Given the description of an element on the screen output the (x, y) to click on. 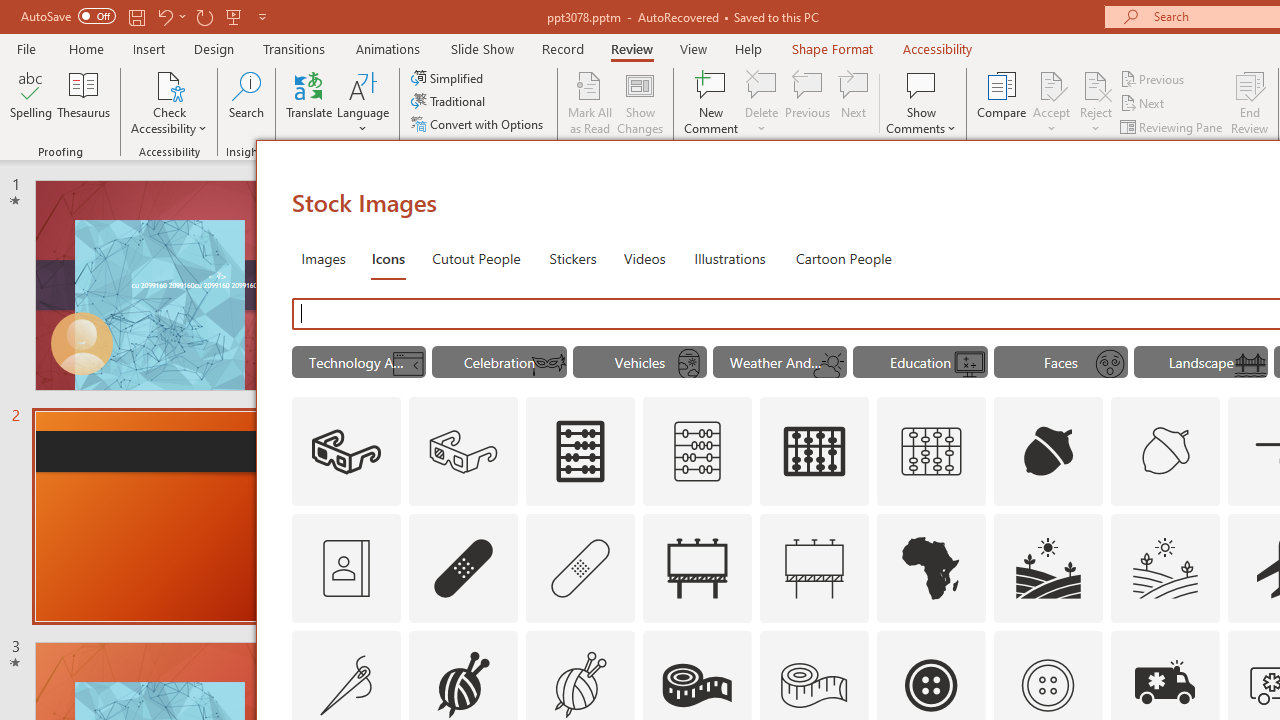
Convert with Options... (479, 124)
AutomationID: Icons_3dGlasses (346, 452)
AutomationID: Icons_Acorn_M (1165, 452)
Accept (1051, 102)
End Review (1249, 102)
AutomationID: Icons_PlaneWindow_M (688, 364)
Compare (1002, 102)
Stickers (573, 258)
AutomationID: Icons (1047, 685)
AutomationID: Icons_AddressBook_RTL_M (346, 568)
"Weather And Seasons" Icons. (779, 362)
